Given the description of an element on the screen output the (x, y) to click on. 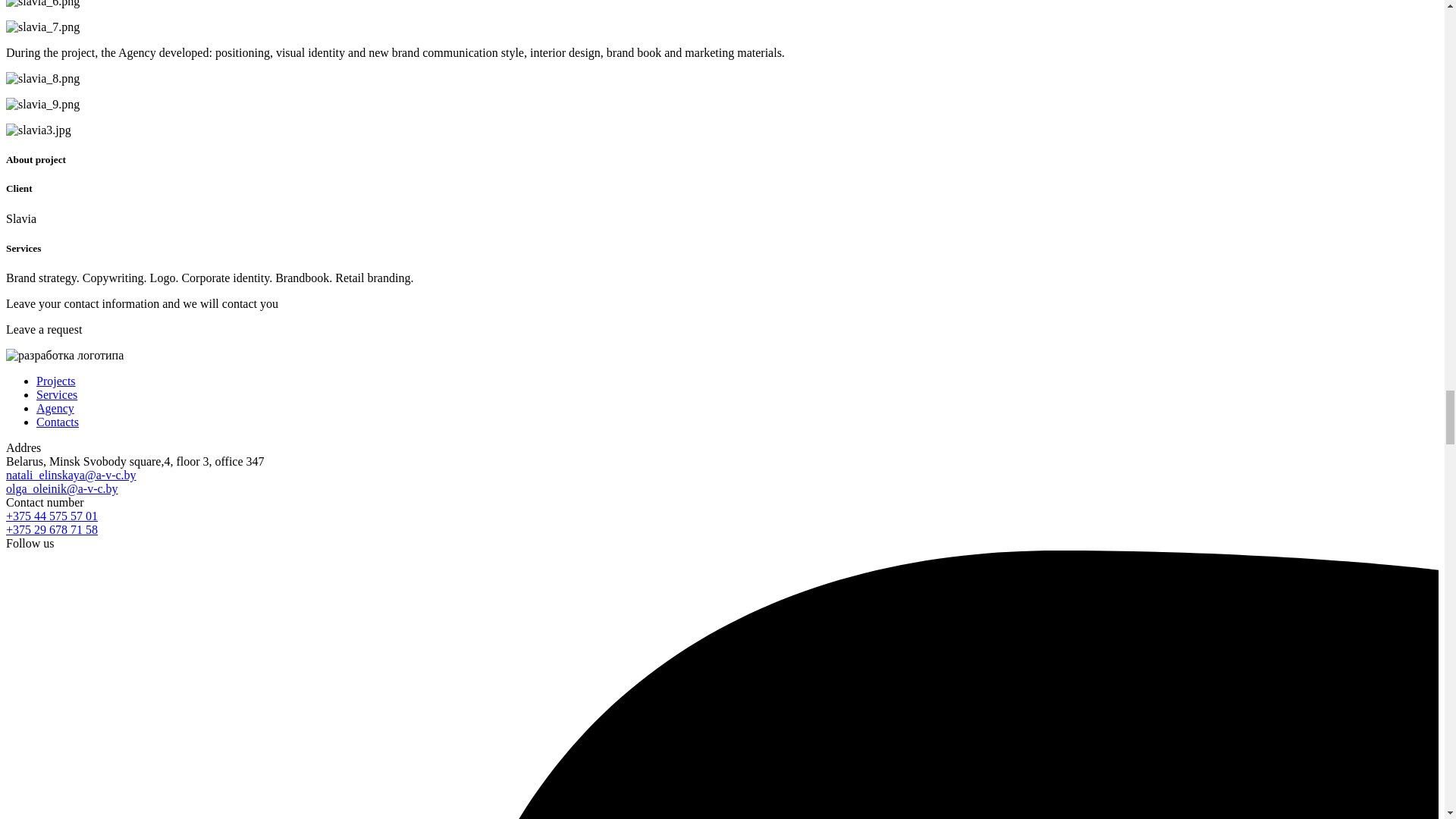
Projects (55, 380)
Contacts (57, 421)
slavia3.jpg (38, 130)
Agency (55, 408)
Services (56, 394)
